Given the description of an element on the screen output the (x, y) to click on. 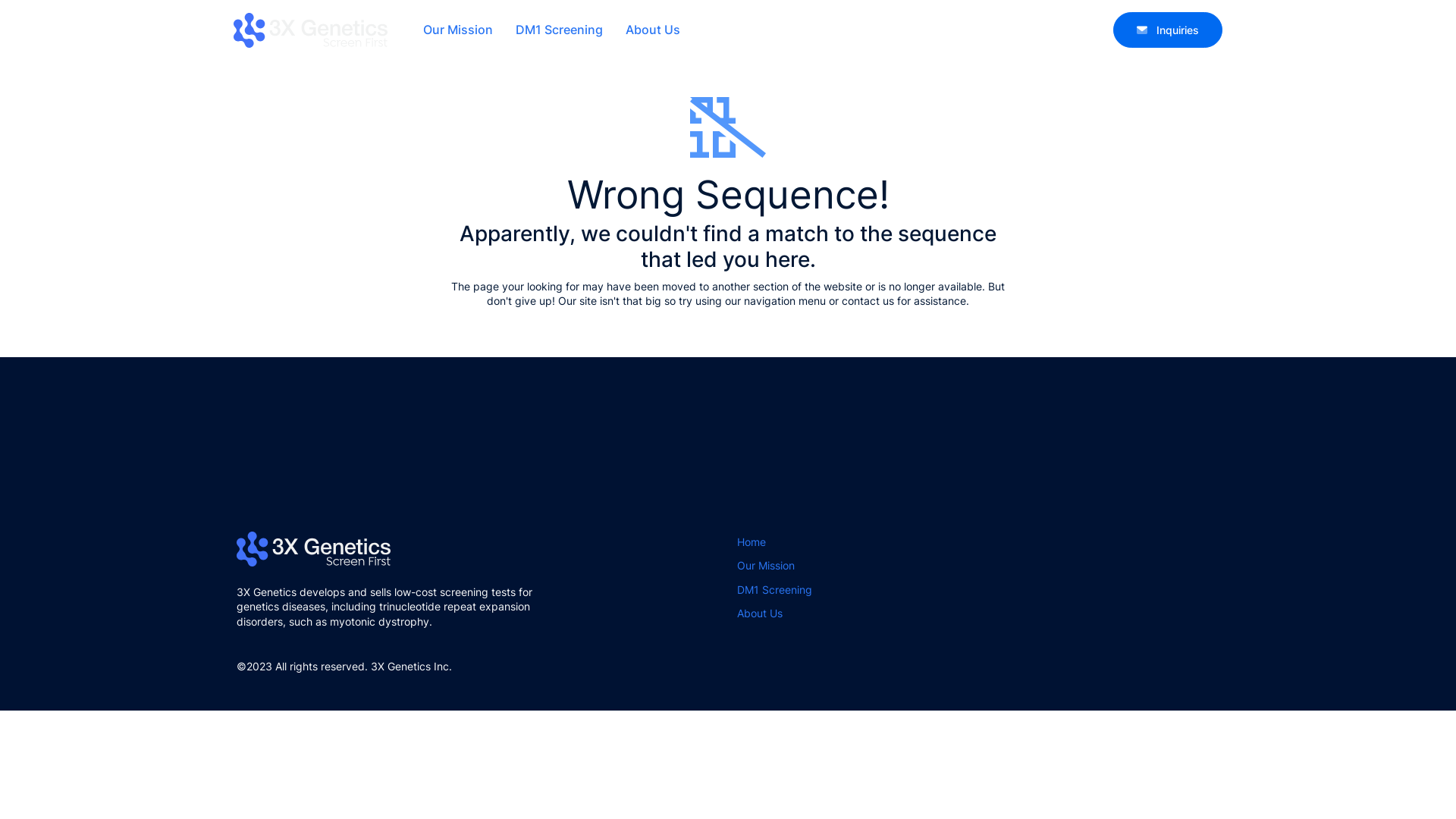
Inquiries Element type: text (1167, 29)
About Us Element type: text (652, 29)
DM1 Screening Element type: text (559, 29)
DM1 Screening Element type: text (774, 591)
About Us Element type: text (759, 614)
Our Mission Element type: text (765, 567)
Our Mission Element type: text (457, 29)
Home Element type: text (751, 543)
